Given the description of an element on the screen output the (x, y) to click on. 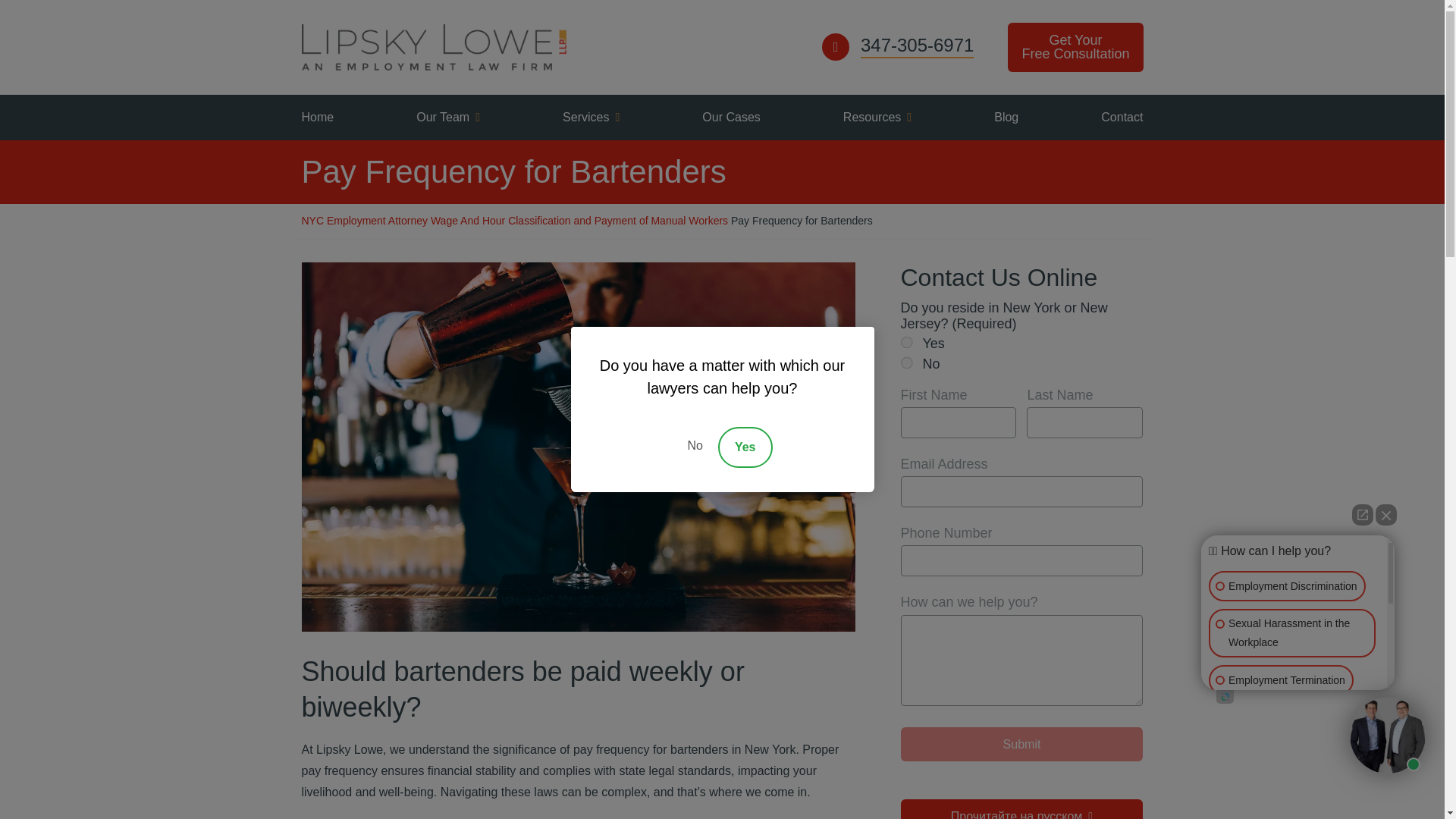
Return home (434, 47)
Home (317, 117)
No (906, 361)
Yes (906, 341)
Submit (1021, 744)
Our Team (448, 117)
Services (591, 117)
347-305-6971 (1074, 47)
